Given the description of an element on the screen output the (x, y) to click on. 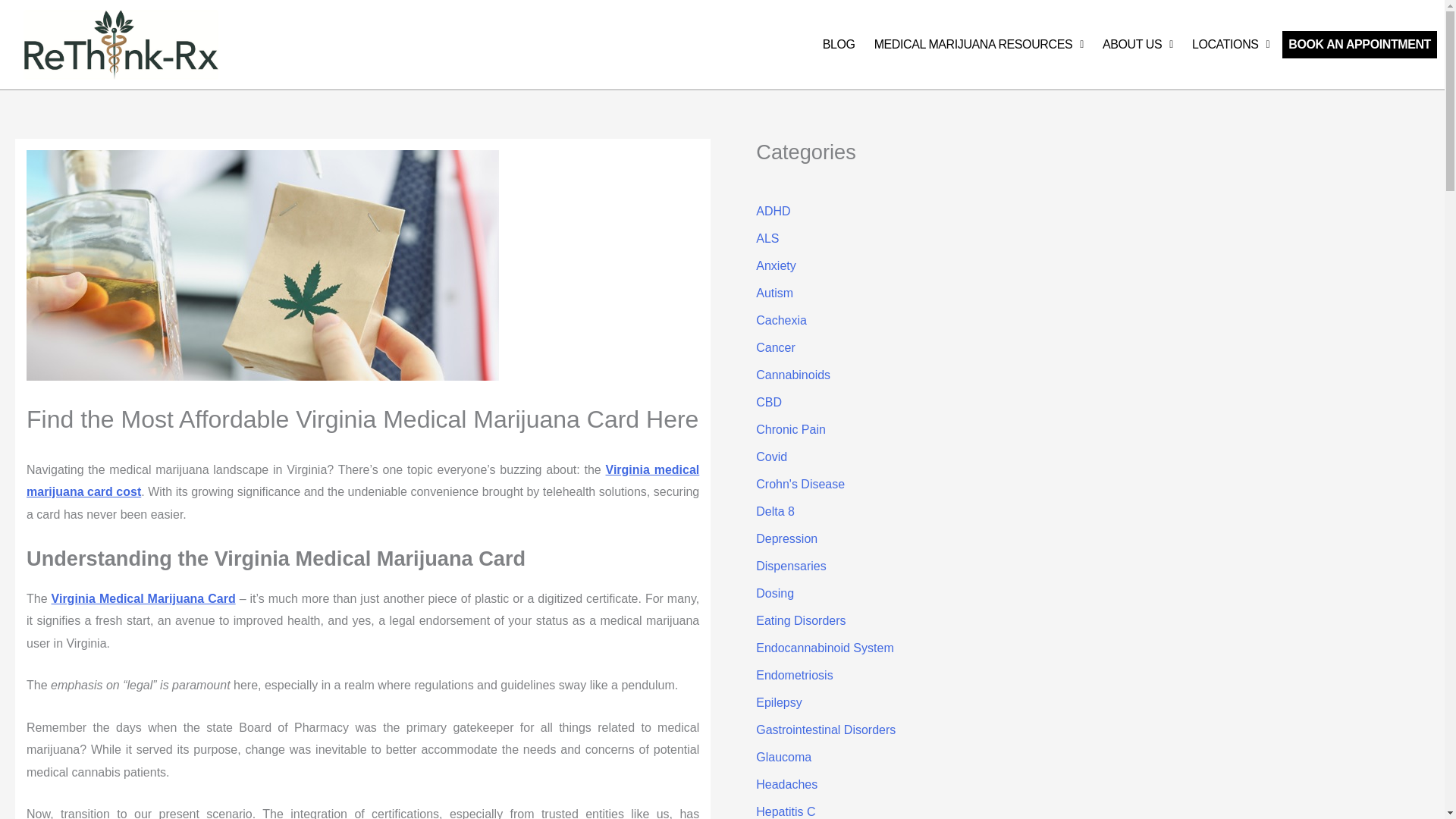
Chronic Pain (790, 429)
Anxiety (774, 265)
Cannabinoids (792, 374)
ADHD (772, 210)
ALS (766, 237)
BLOG (838, 44)
Virginia Medical Marijuana Card (142, 598)
LOCATIONS (1230, 44)
Cachexia (780, 319)
Cancer (774, 347)
